Given the description of an element on the screen output the (x, y) to click on. 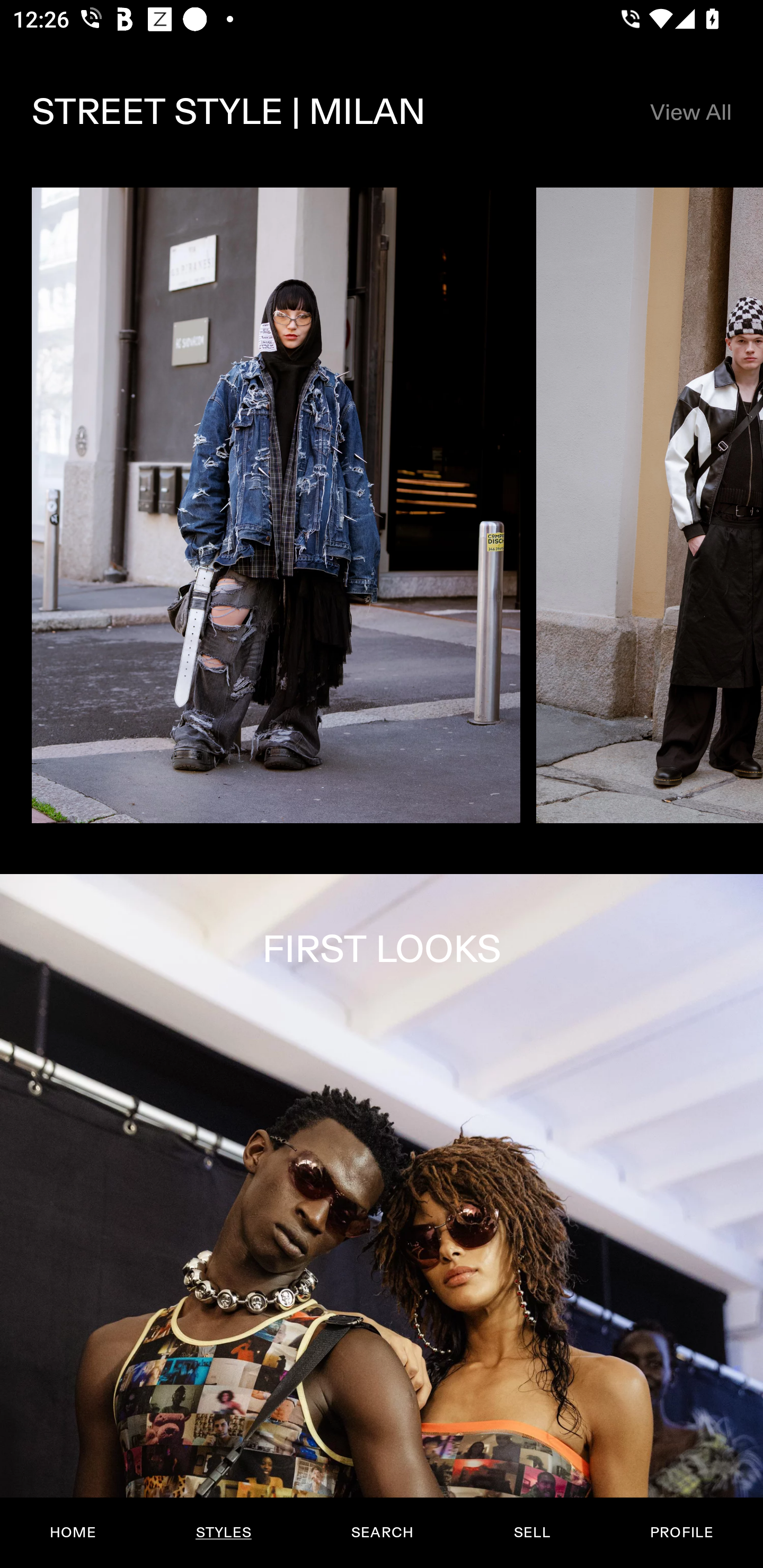
View All (690, 112)
FIRST LOOKS DIESEL FALL '24 (381, 1220)
HOME (72, 1532)
STYLES (222, 1532)
SEARCH (381, 1532)
SELL (531, 1532)
PROFILE (681, 1532)
